Given the description of an element on the screen output the (x, y) to click on. 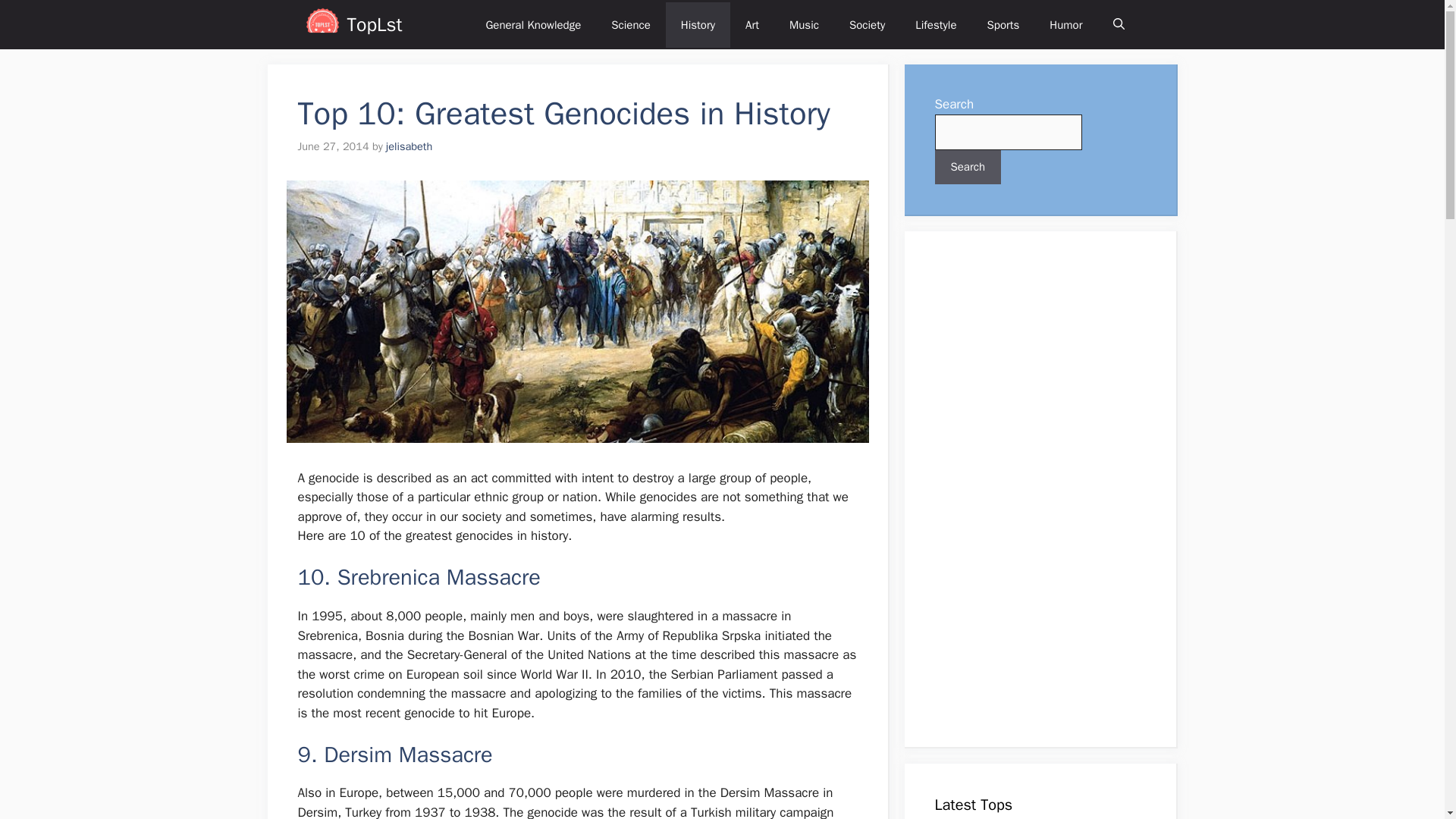
General Knowledge (532, 23)
Art (752, 23)
Society (866, 23)
History (697, 23)
Sports (1003, 23)
Humor (1065, 23)
Music (804, 23)
Lifestyle (935, 23)
Search (967, 166)
Science (630, 23)
